Given the description of an element on the screen output the (x, y) to click on. 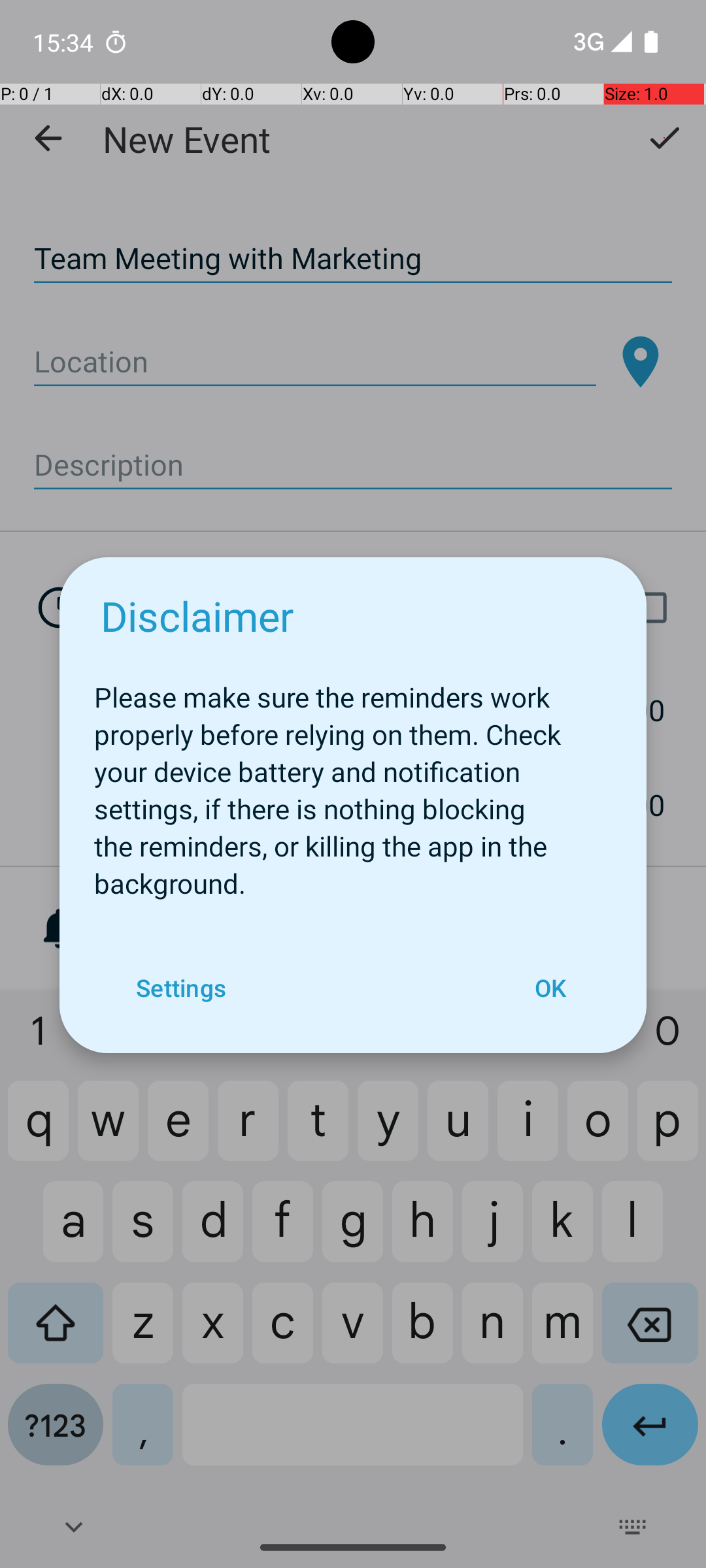
Disclaimer Element type: android.widget.TextView (196, 615)
Please make sure the reminders work properly before relying on them. Check your device battery and notification settings, if there is nothing blocking the reminders, or killing the app in the background. Element type: android.widget.TextView (352, 782)
